Given the description of an element on the screen output the (x, y) to click on. 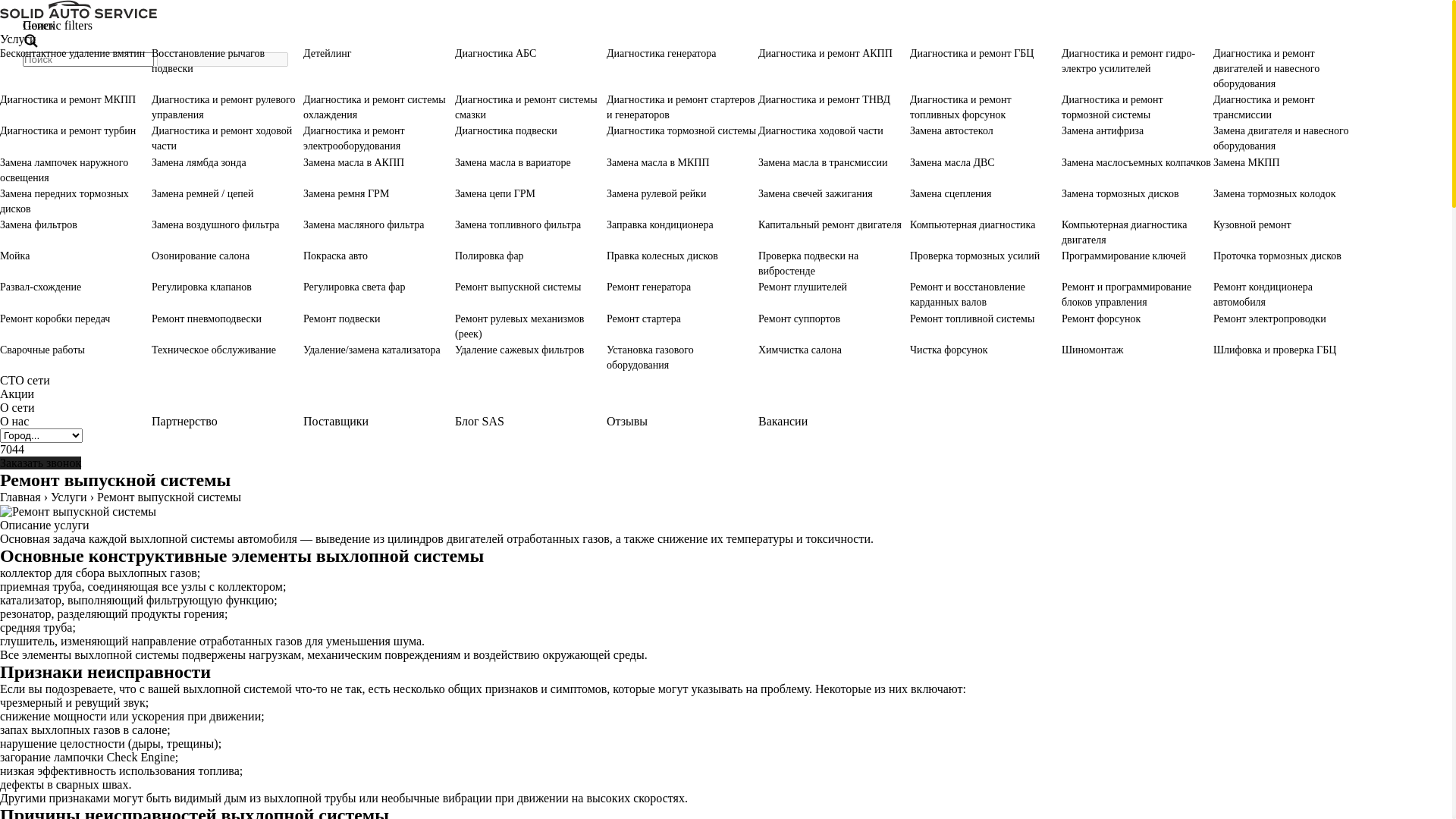
7044 Element type: text (12, 448)
